Given the description of an element on the screen output the (x, y) to click on. 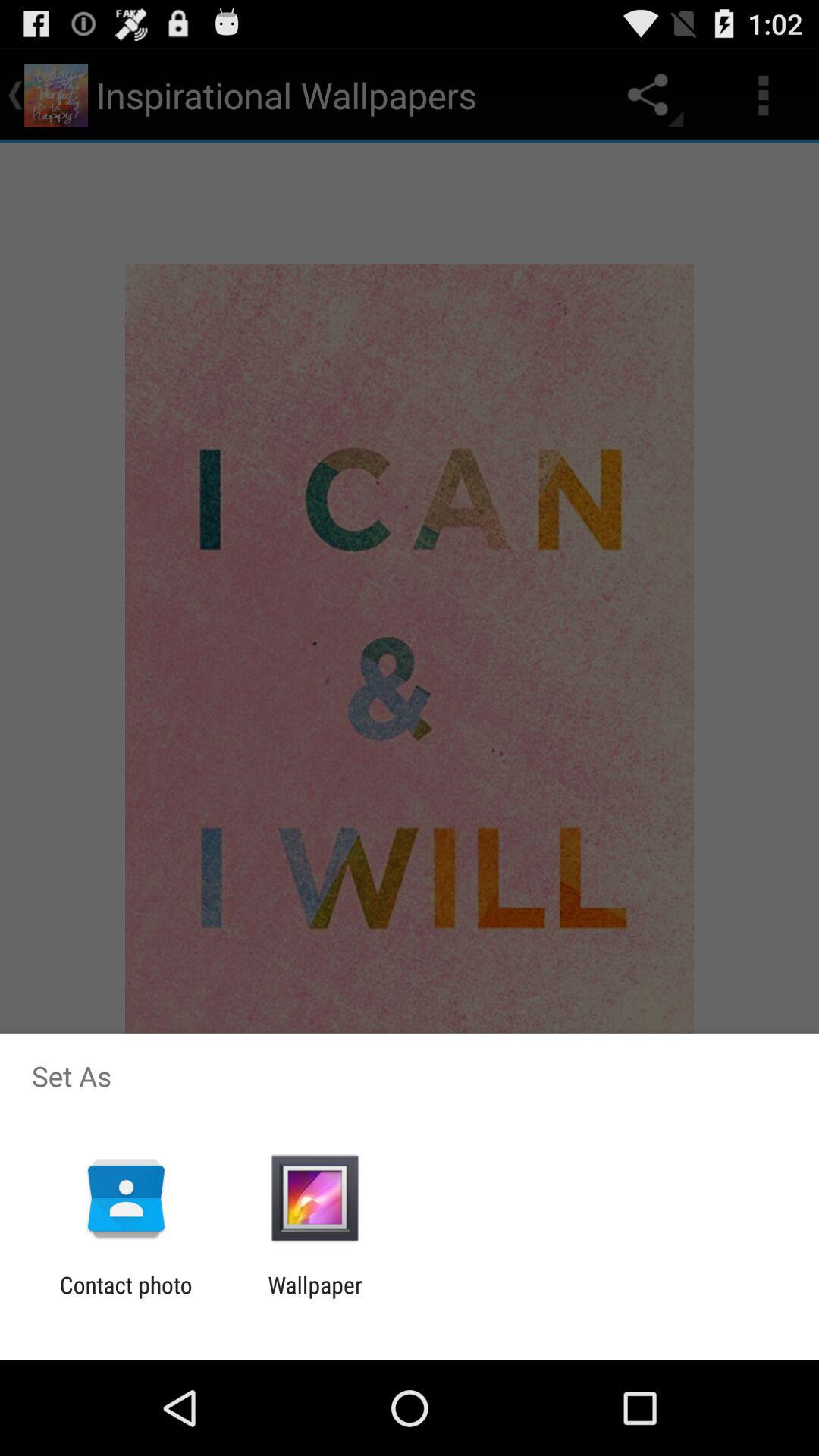
turn on icon next to the contact photo icon (314, 1298)
